Given the description of an element on the screen output the (x, y) to click on. 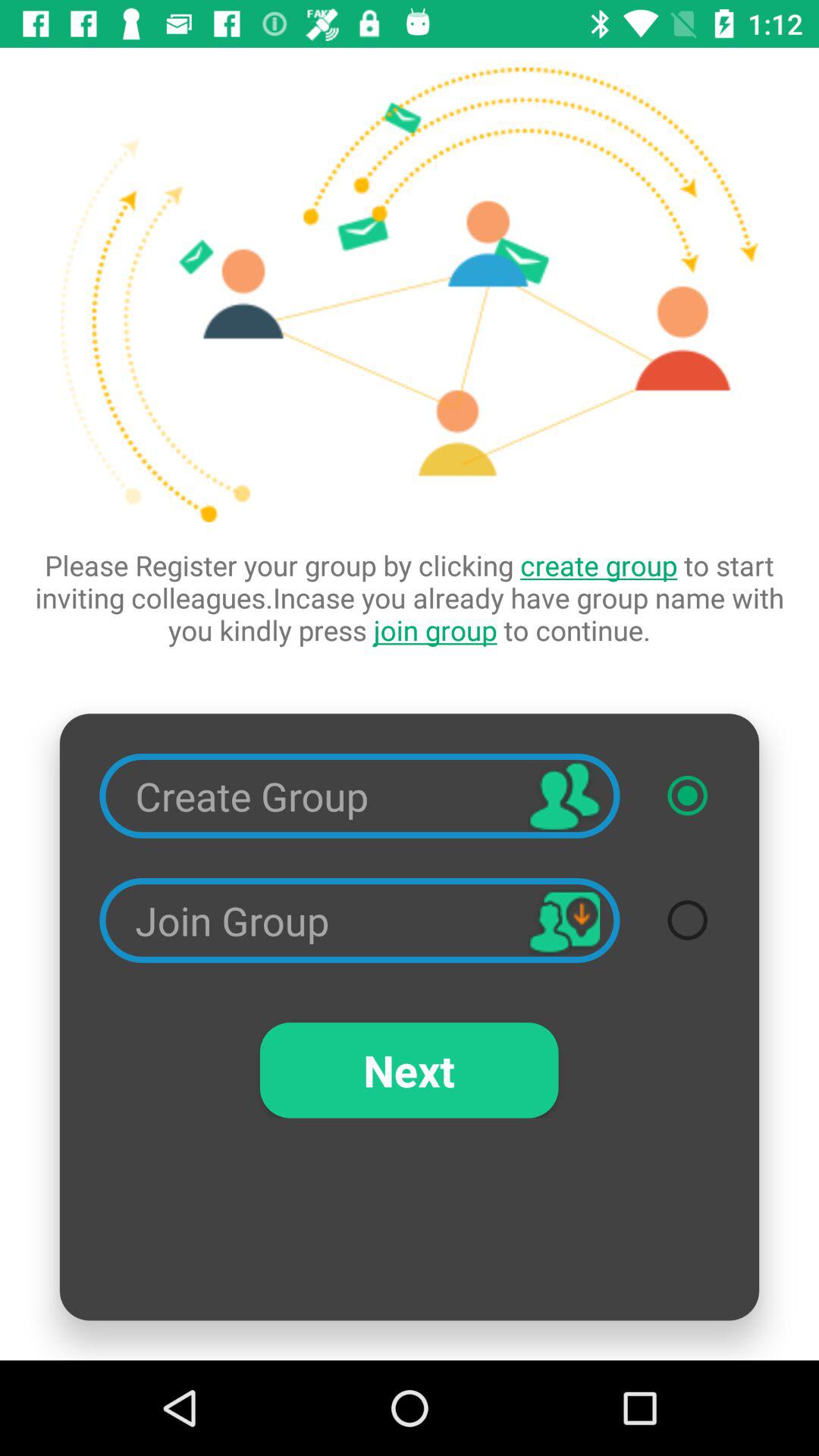
select this option (687, 795)
